Given the description of an element on the screen output the (x, y) to click on. 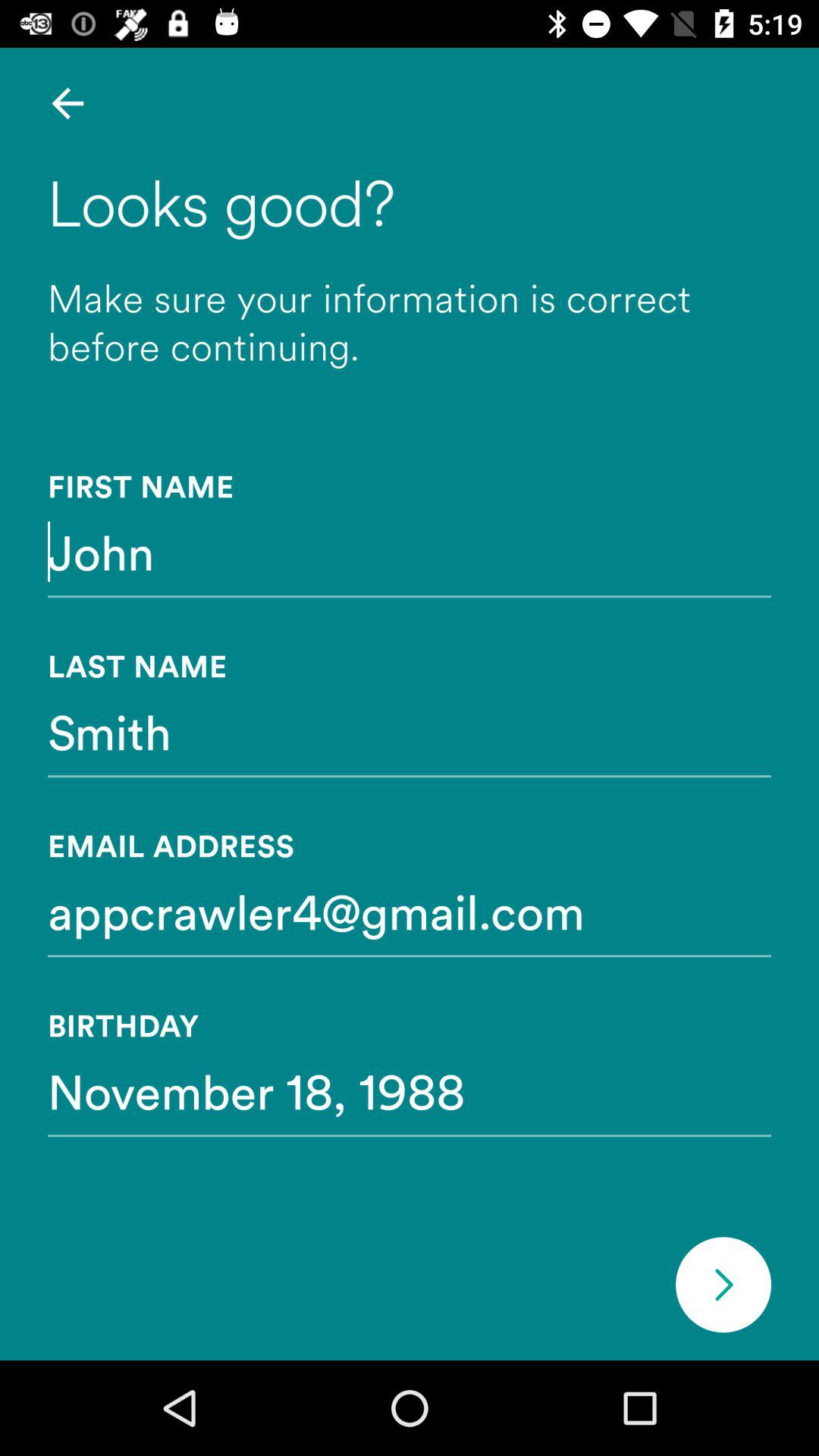
scroll until november 18, 1988 icon (409, 1090)
